Given the description of an element on the screen output the (x, y) to click on. 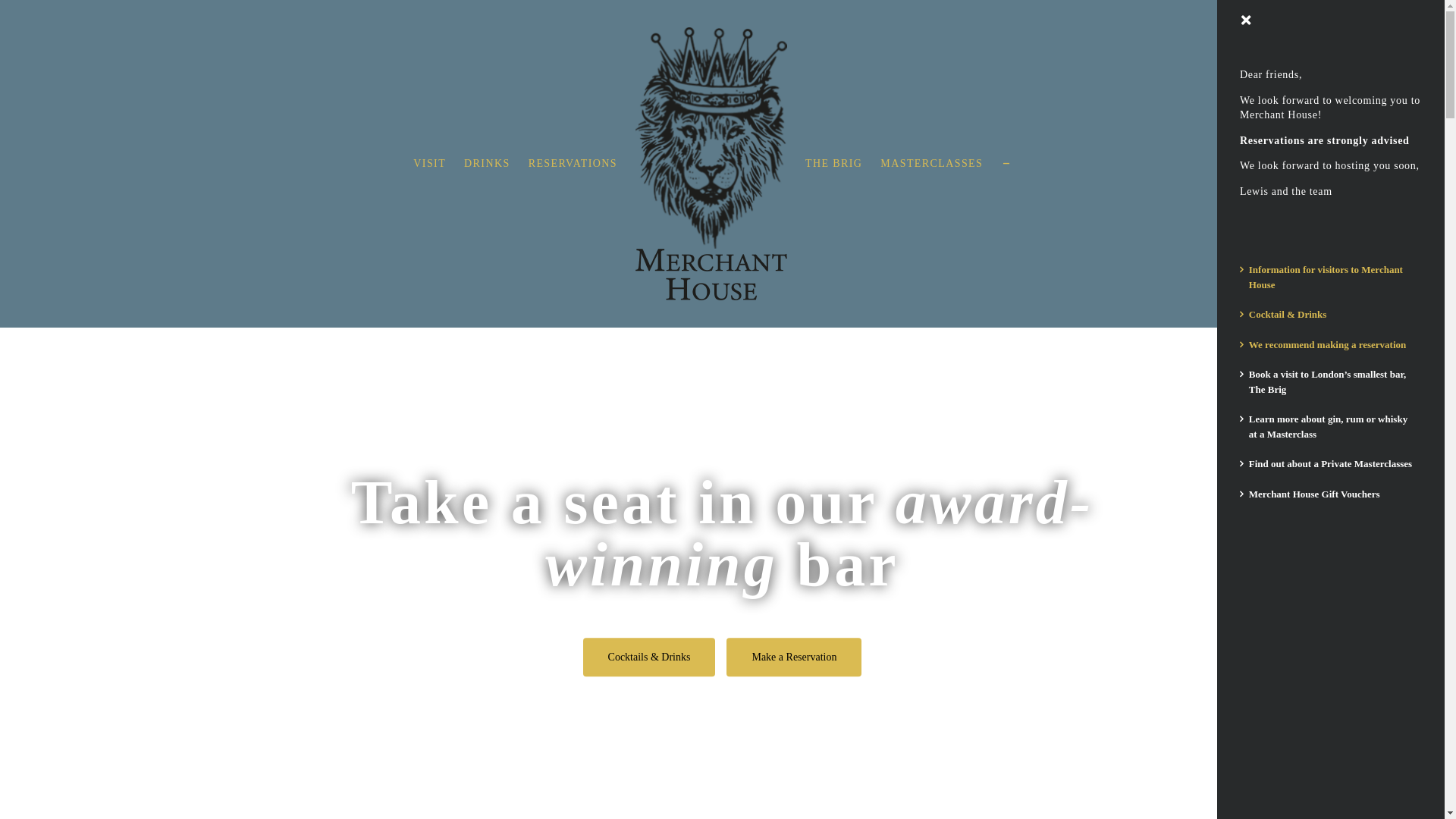
VISIT Element type: text (429, 163)
Merchant House Gift Vouchers Element type: text (1314, 493)
Cocktails & Drinks Element type: text (649, 656)
Cocktail & Drinks Element type: text (1287, 314)
Reservations are strongly advised Element type: text (1324, 140)
MASTERCLASSES Element type: text (931, 163)
Learn more about gin, rum or whisky at a Masterclass Element type: text (1327, 426)
Find out about a Private Masterclasses Element type: text (1330, 463)
We recommend making a reservation Element type: text (1327, 344)
Make a Reservation Element type: text (793, 656)
THE BRIG Element type: text (833, 163)
Close Sliding Bar Area Element type: text (1245, 20)
Information for visitors to Merchant House Element type: text (1325, 276)
DRINKS Element type: text (487, 163)
RESERVATIONS Element type: text (572, 163)
Toggle Sliding Bar Element type: hover (1006, 163)
